Given the description of an element on the screen output the (x, y) to click on. 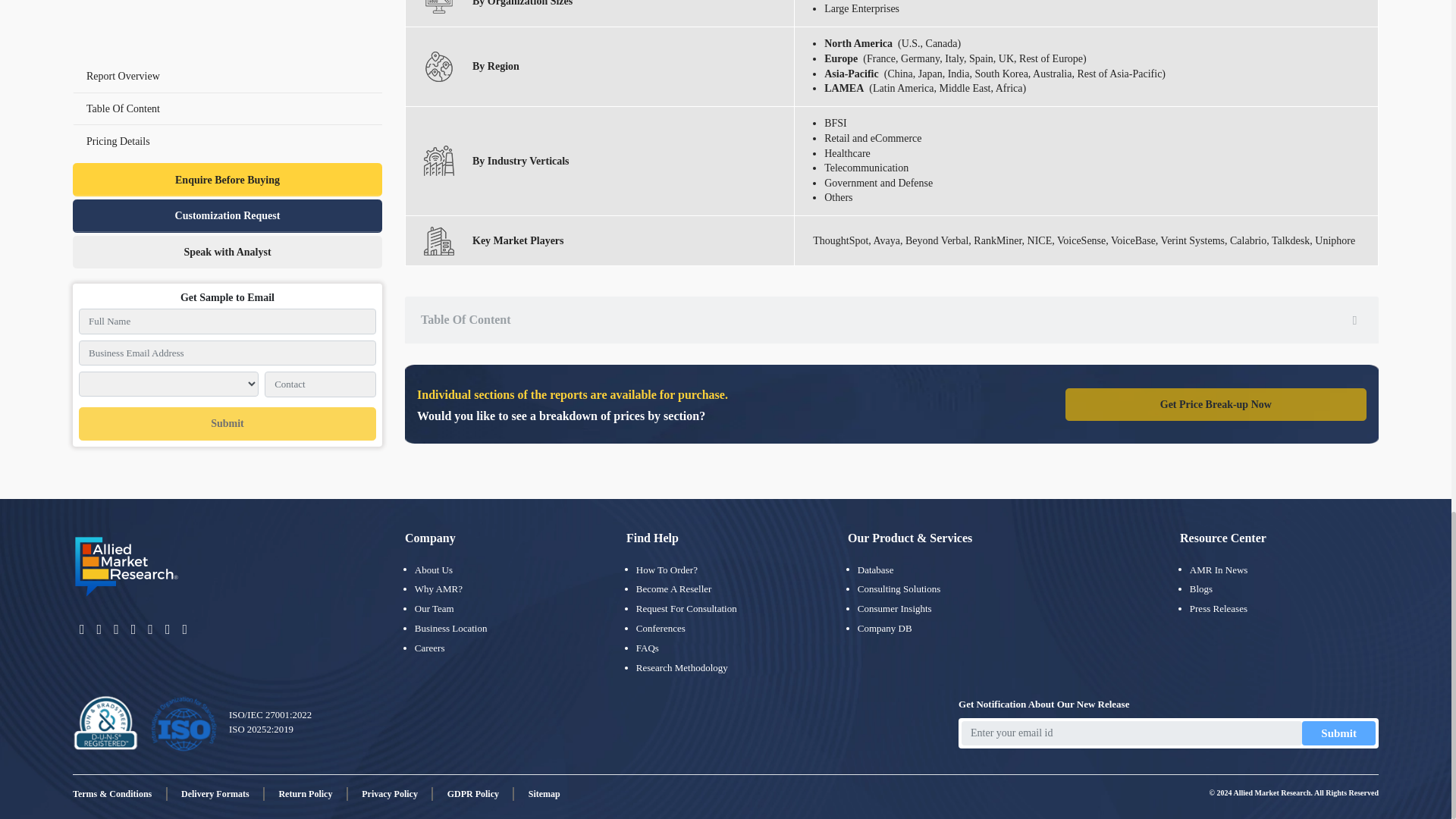
Voice Analytics Market By Region (438, 66)
Voice Analytics Market By Organization Sizes (438, 8)
Table Of Content (891, 319)
Voice Analytics Market By Industry Verticals (438, 160)
Allied Market Research Footer Logo (126, 566)
Get Price Break-up Now (1216, 404)
Key Market Players (438, 241)
